Given the description of an element on the screen output the (x, y) to click on. 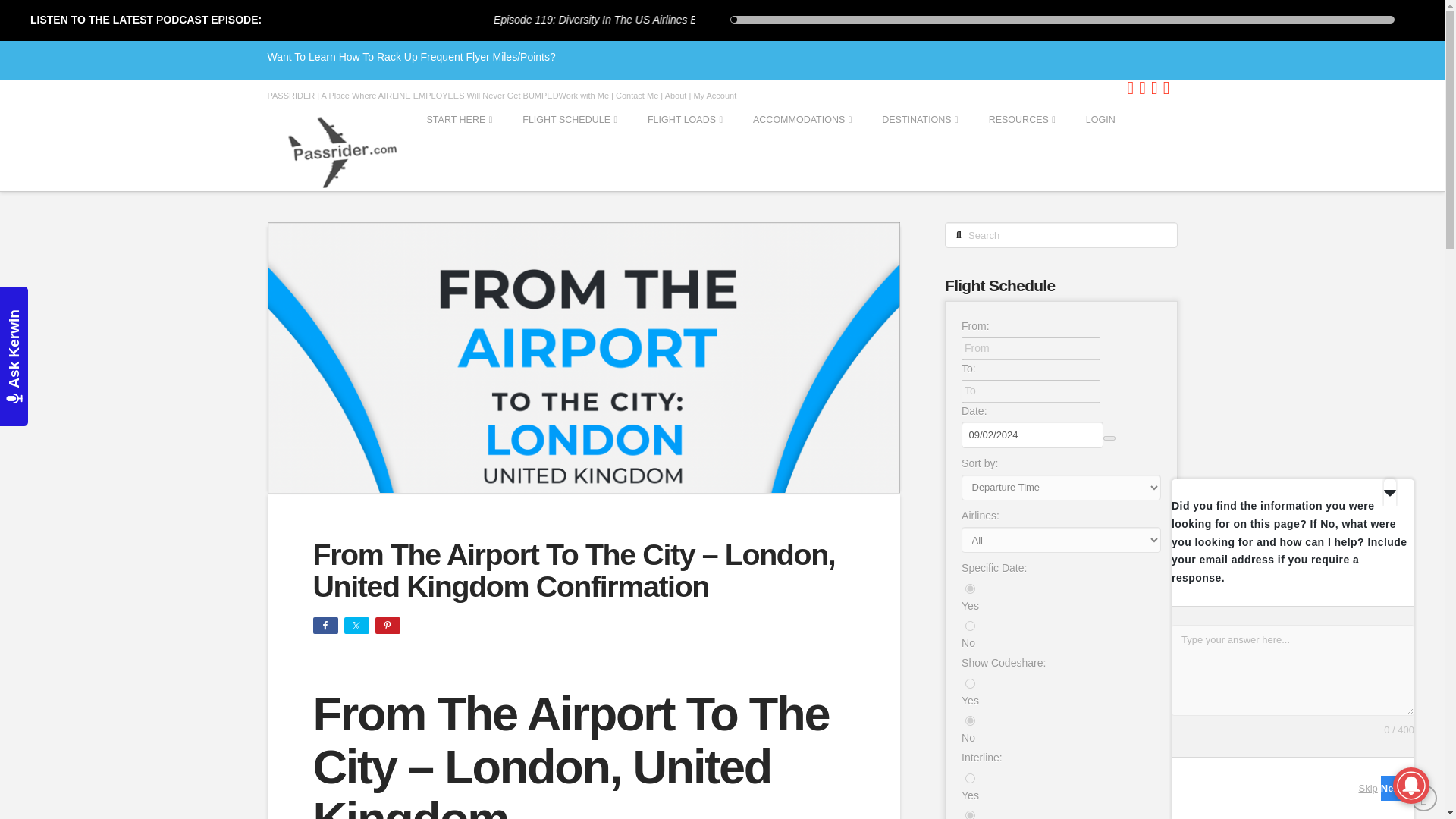
FLIGHT LOADS (684, 152)
About (676, 94)
Y (970, 588)
Contact Me (636, 94)
N (970, 625)
Y (970, 683)
Share on Facebook (325, 625)
N (970, 814)
FLIGHT SCHEDULE (568, 152)
Work with Me (583, 94)
